Given the description of an element on the screen output the (x, y) to click on. 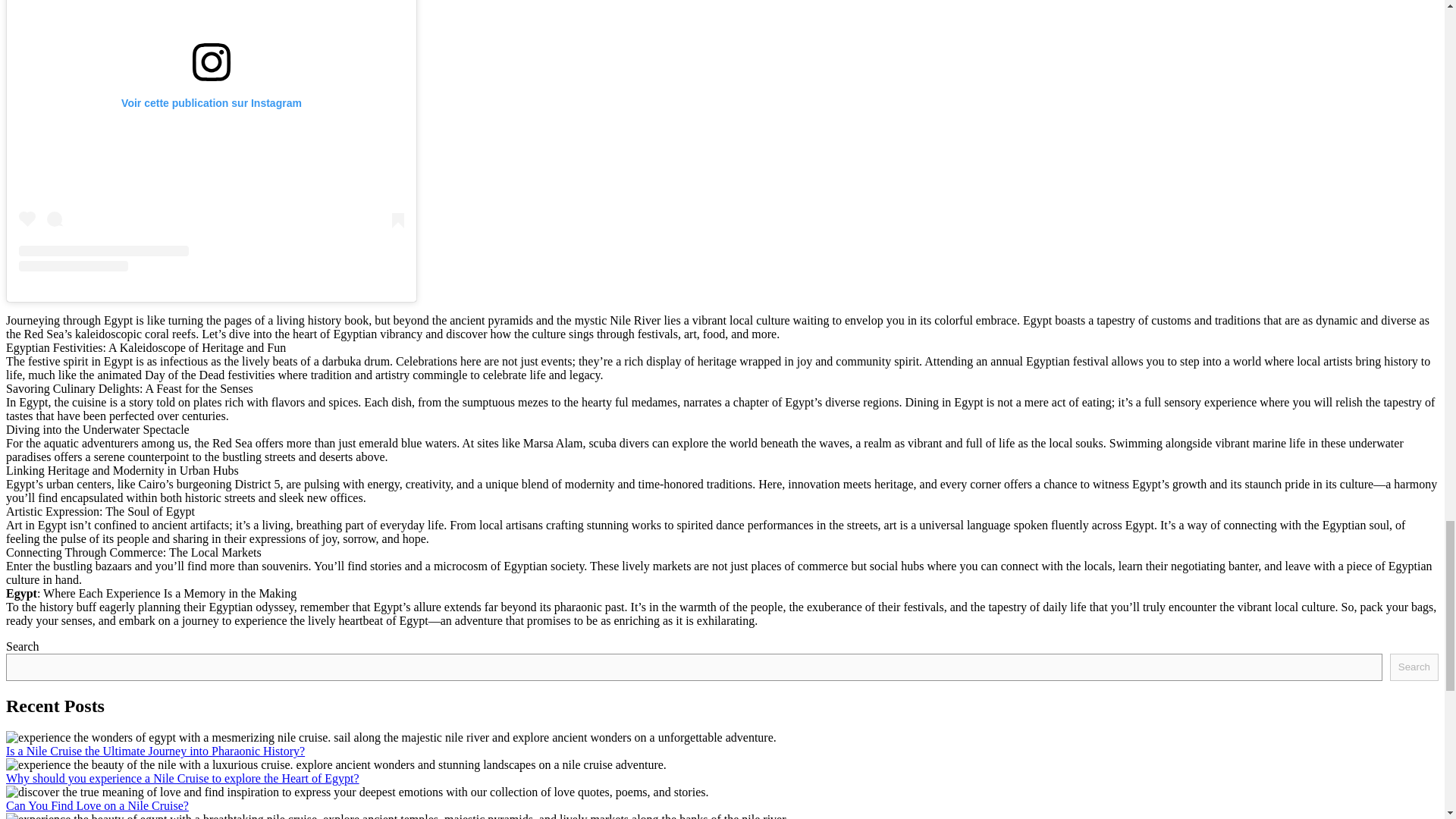
Can You Find Love on a Nile Cruise? (97, 805)
Voir cette publication sur Instagram (211, 135)
